Given the description of an element on the screen output the (x, y) to click on. 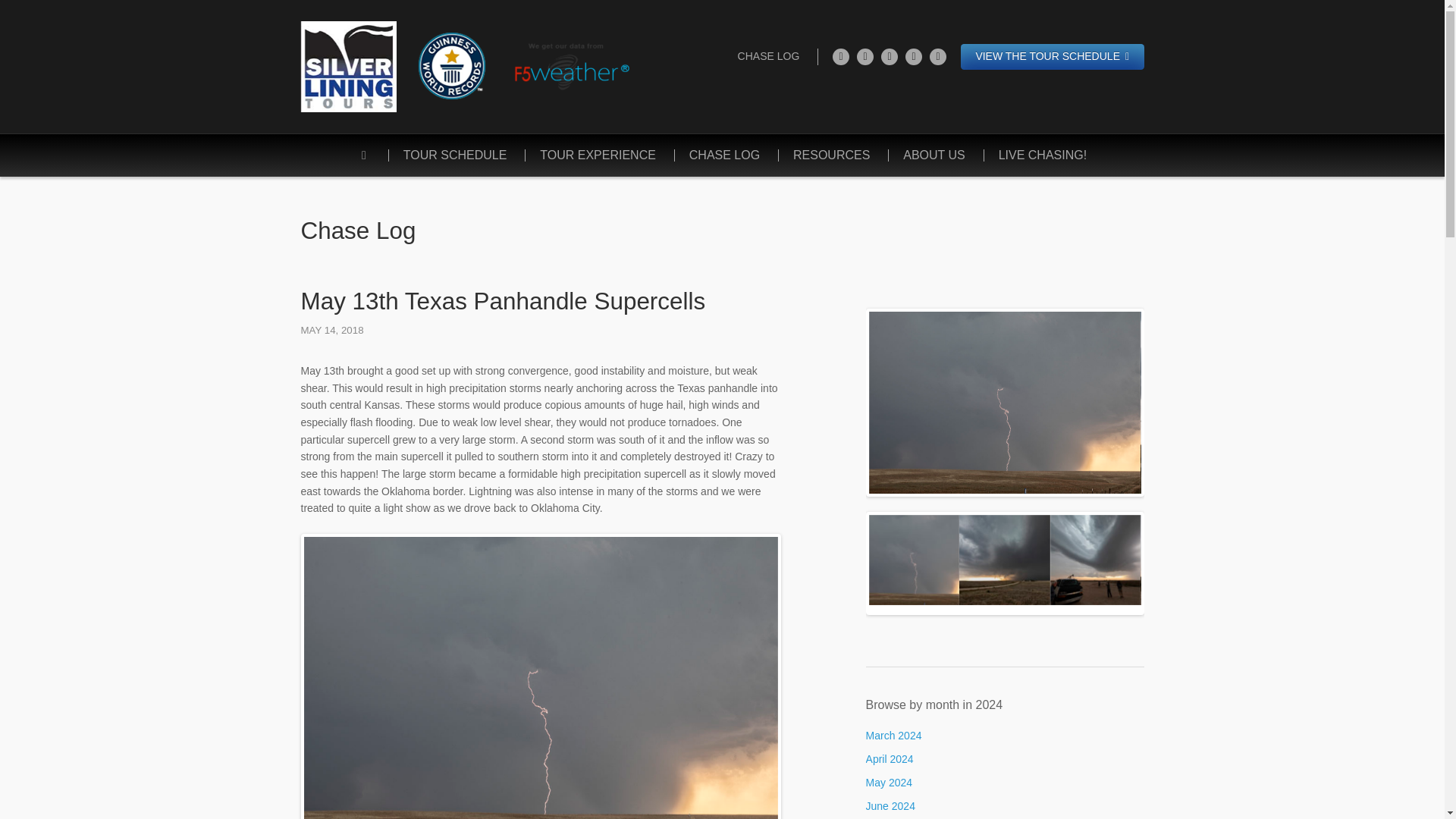
TOUR SCHEDULE (455, 155)
CHASE LOG (768, 56)
HOME (363, 155)
VIEW THE TOUR SCHEDULE (1052, 56)
CHASE LOG (724, 155)
TOUR EXPERIENCE (597, 155)
